Given the description of an element on the screen output the (x, y) to click on. 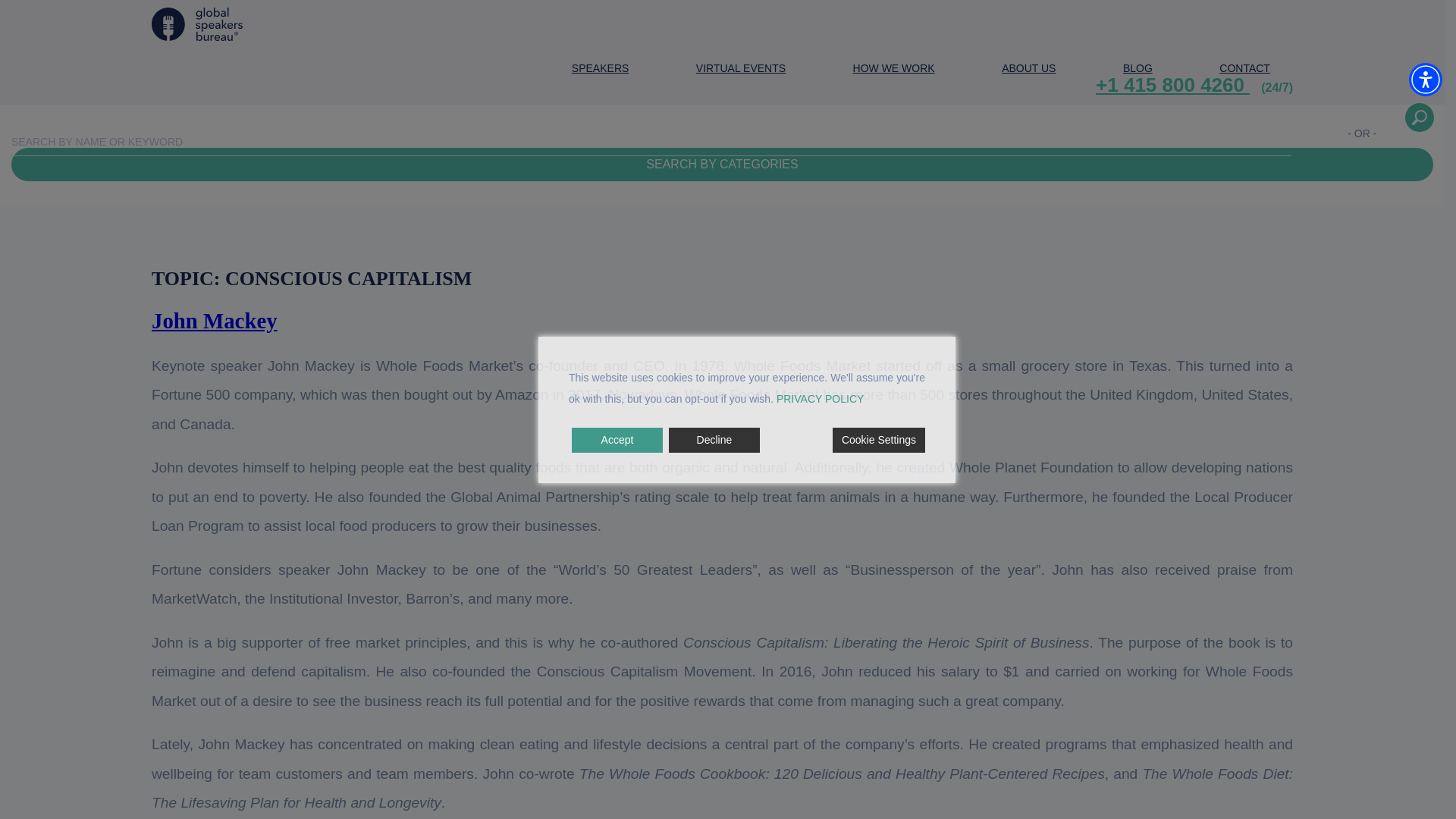
Accessibility Menu (1425, 79)
CONTACT (1244, 69)
SEARCH BY CATEGORIES (721, 164)
VIRTUAL EVENTS (740, 69)
SPEAKERS (600, 69)
HOW WE WORK (893, 69)
BLOG (1137, 69)
ABOUT US (1028, 69)
